Given the description of an element on the screen output the (x, y) to click on. 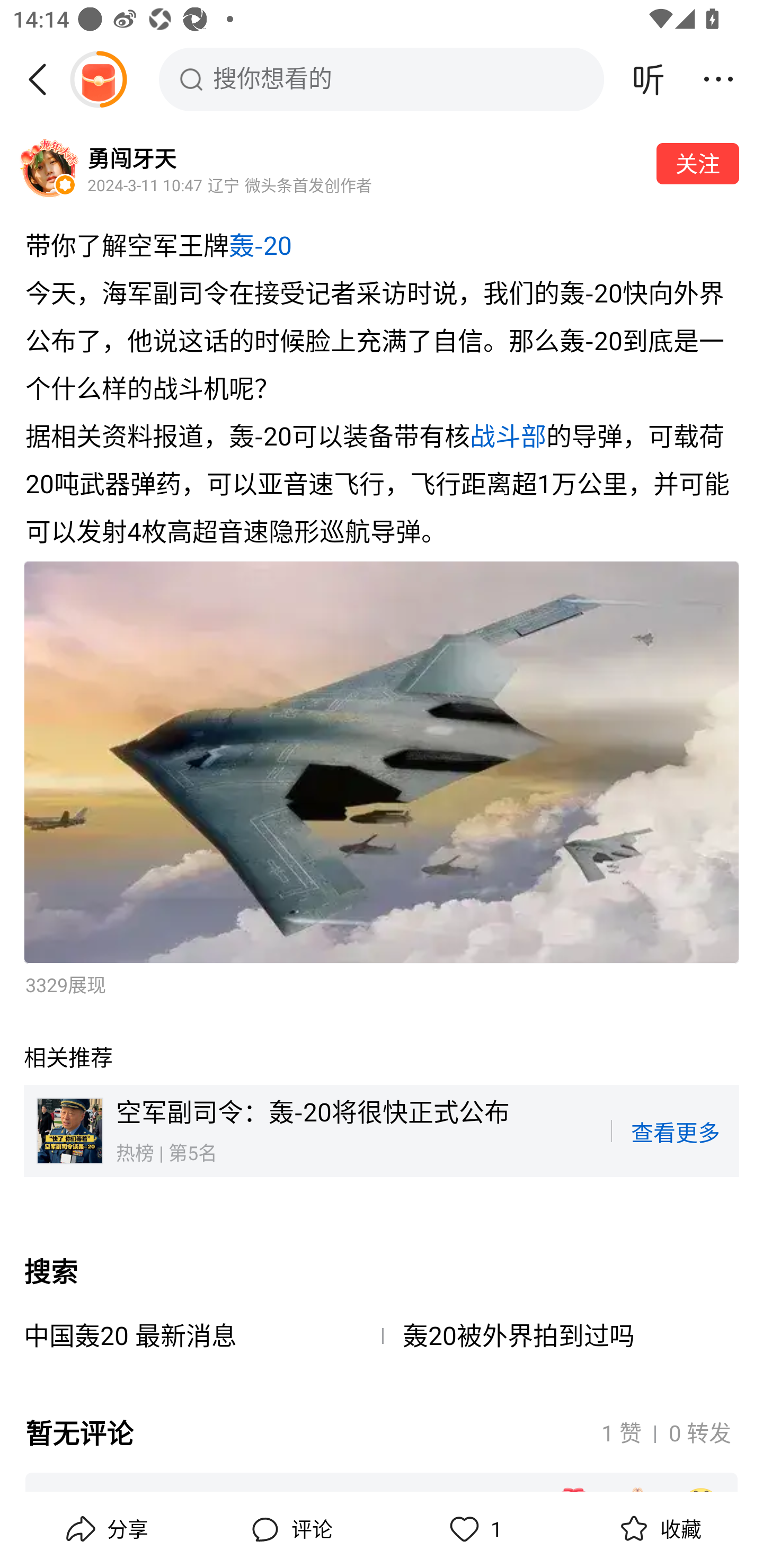
返回 (44, 78)
听头条 (648, 78)
更多操作 (718, 78)
搜你想看的 搜索框，搜你想看的 (381, 79)
阅读赚金币 (98, 79)
勇闯牙天 (131, 157)
关注 (697, 163)
勇闯牙天头像 (48, 169)
内容图片 (381, 762)
空军副司令：轰-20将很快正式公布:热榜 | 第5名:查看更多:按钮 (381, 1131)
中国轰20 最新消息 (201, 1345)
轰20被外界拍到过吗 (560, 1345)
分享 (104, 1529)
评论, 评论 (288, 1529)
,收藏 收藏 (658, 1529)
